Given the description of an element on the screen output the (x, y) to click on. 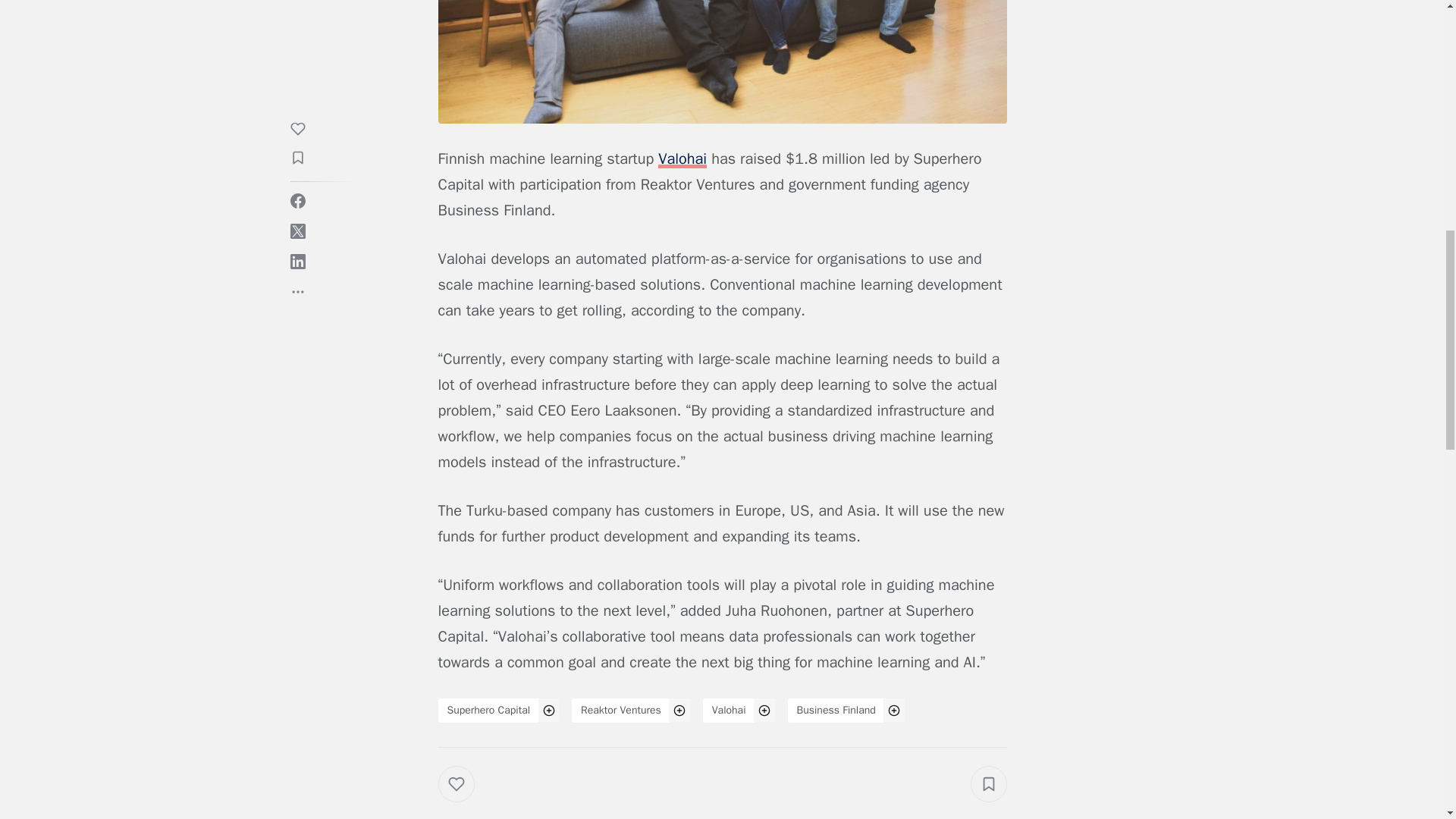
Add to collection (989, 783)
Reaktor Ventures (620, 710)
Like (467, 798)
Business Finland (835, 710)
Superhero Capital (489, 710)
Valohai (729, 710)
